Given the description of an element on the screen output the (x, y) to click on. 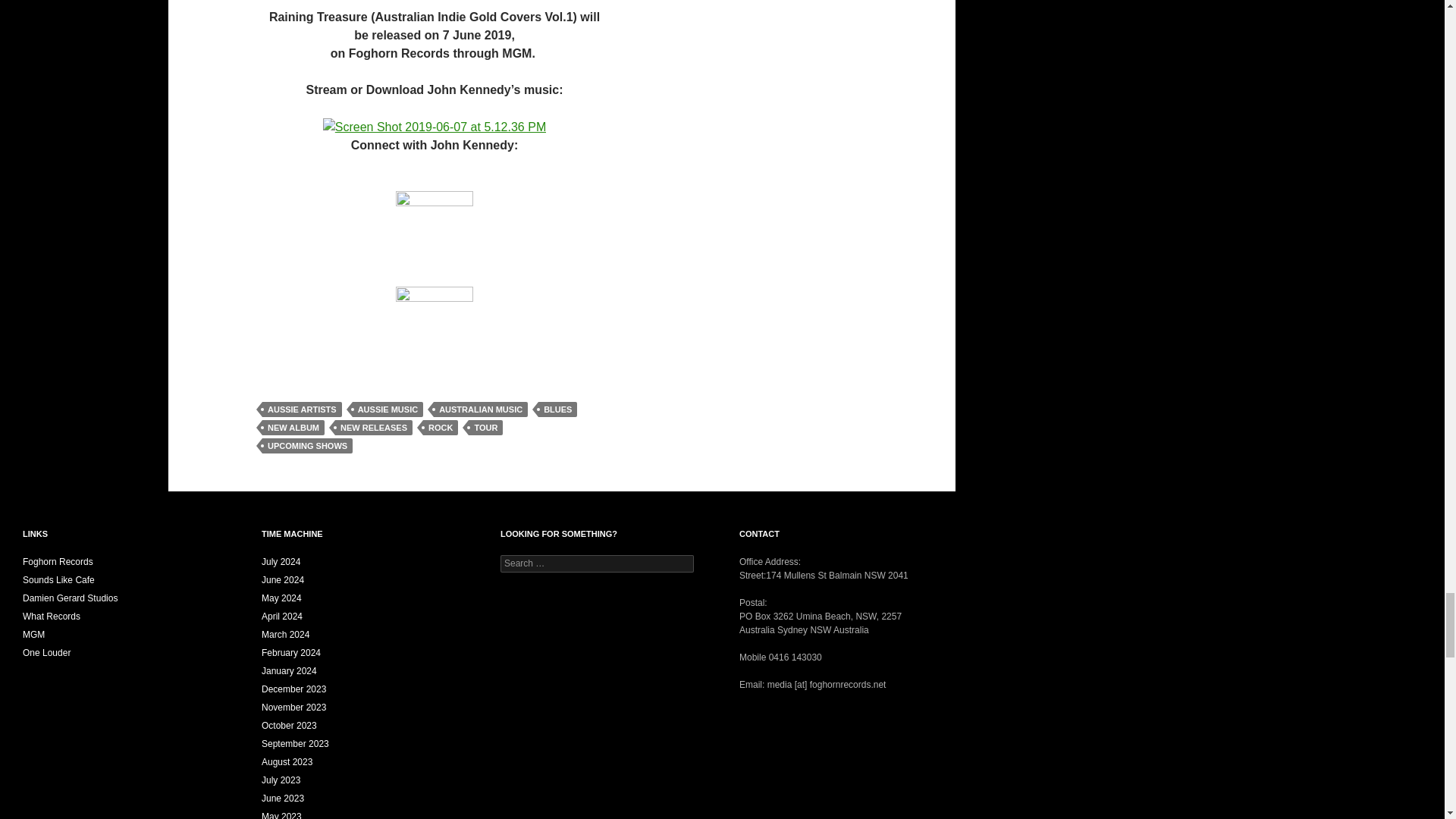
Page 1 (434, 181)
buy (434, 125)
Damien Gerard Sound Recording Studios (70, 597)
One Louder Artist Management (46, 652)
What Records (51, 615)
Search for: (597, 563)
MGM Distribution (34, 634)
Sounds Like Cafe (58, 579)
Foghorn Records (58, 561)
